Given the description of an element on the screen output the (x, y) to click on. 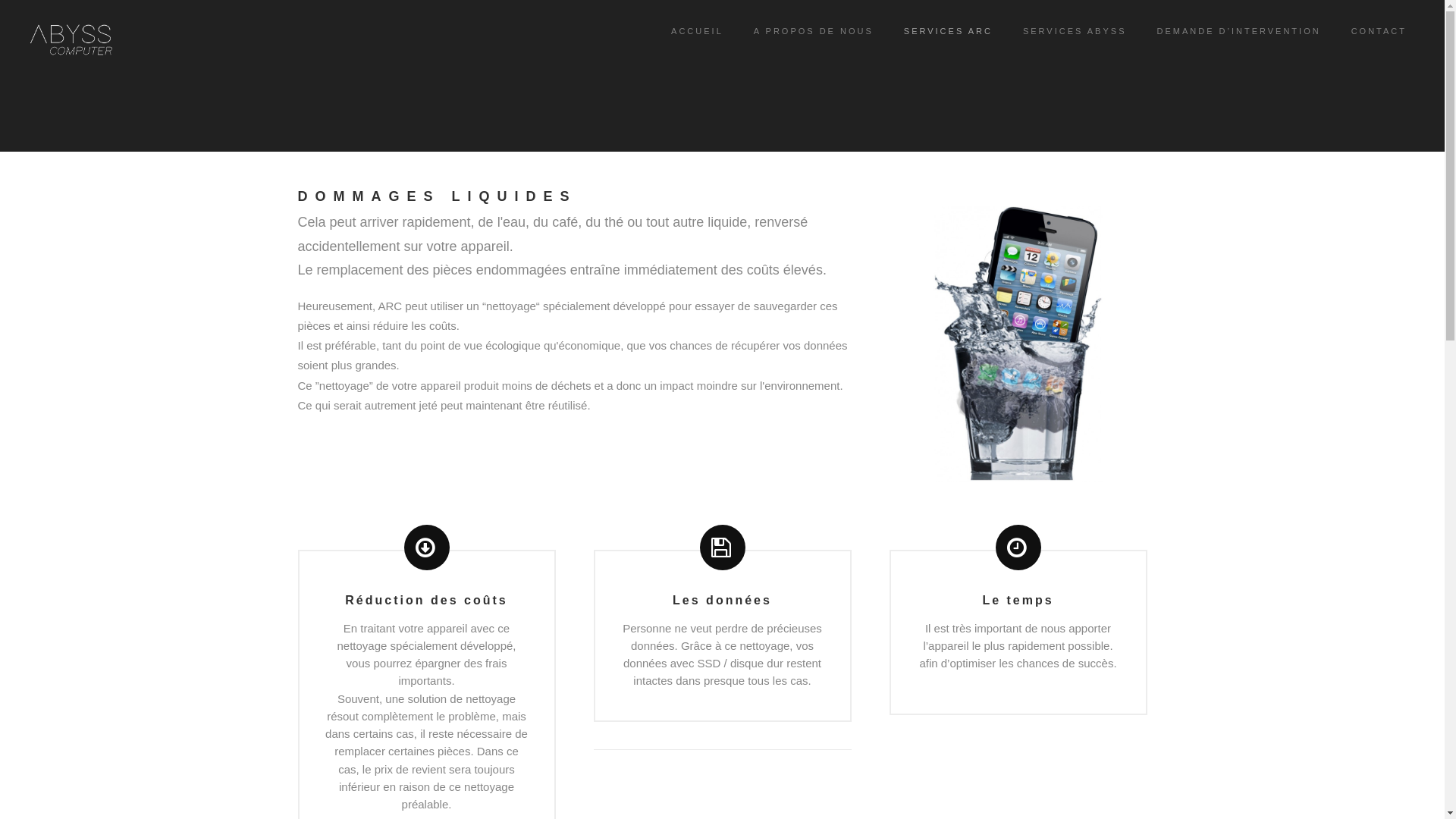
ACCUEIL Element type: text (697, 31)
SERVICES ARC Element type: text (947, 31)
SERVICES ABYSS Element type: text (1074, 31)
CONTACT Element type: text (1378, 31)
A PROPOS DE NOUS Element type: text (813, 31)
